Given the description of an element on the screen output the (x, y) to click on. 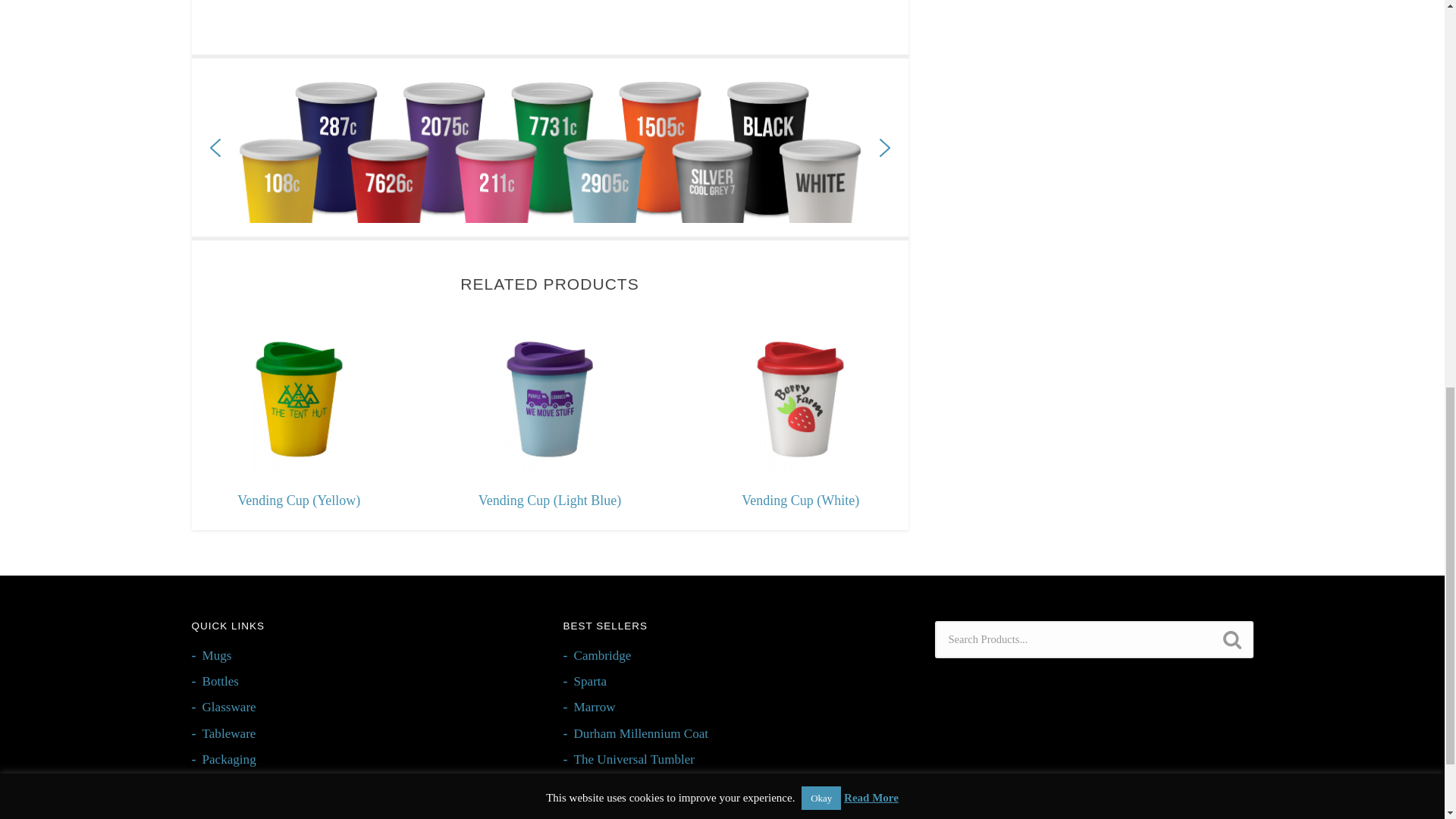
Search (1230, 639)
Search (1230, 639)
